Given the description of an element on the screen output the (x, y) to click on. 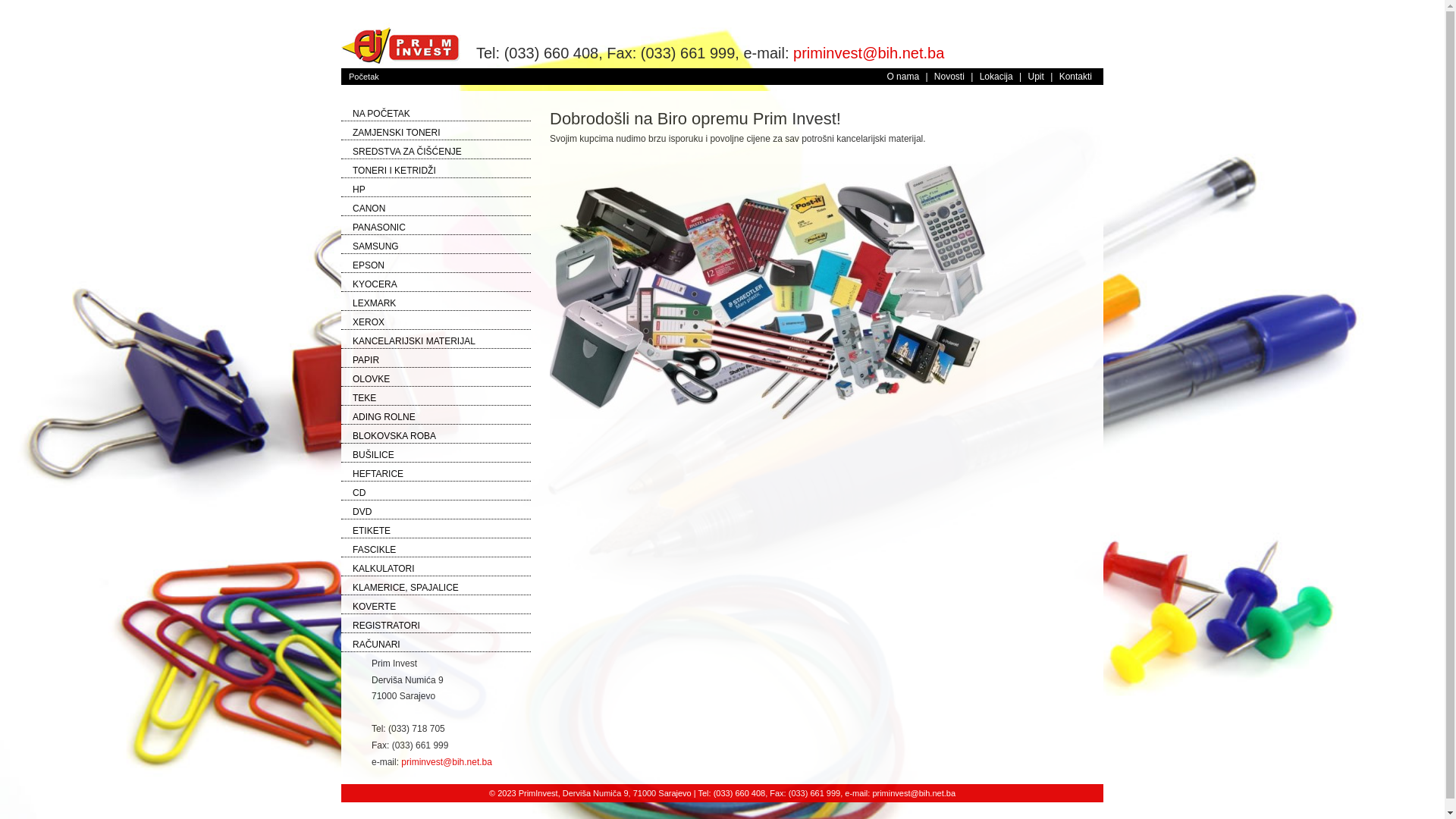
CD Element type: text (358, 492)
REGISTRATORI Element type: text (386, 625)
KOVERTE Element type: text (373, 606)
PrimInvest Element type: hover (401, 45)
BLOKOVSKA ROBA Element type: text (394, 435)
DVD Element type: text (361, 511)
O nama Element type: text (902, 76)
KANCELARIJSKI MATERIJAL Element type: text (413, 340)
ETIKETE Element type: text (371, 530)
PANASONIC Element type: text (378, 227)
LEXMARK Element type: text (373, 303)
KLAMERICE, SPAJALICE Element type: text (405, 587)
priminvest@bih.net.ba Element type: text (868, 52)
ADING ROLNE Element type: text (383, 416)
priminvest@bih.net.ba Element type: text (446, 761)
KALKULATORI Element type: text (383, 568)
TEKE Element type: text (364, 397)
Upit Element type: text (1035, 76)
KYOCERA Element type: text (374, 284)
FASCIKLE Element type: text (373, 549)
ZAMJENSKI TONERI Element type: text (396, 132)
HEFTARICE Element type: text (377, 473)
priminvest@bih.net.ba Element type: text (913, 792)
Kontakti Element type: text (1075, 76)
SAMSUNG Element type: text (375, 246)
XEROX Element type: text (368, 321)
EPSON Element type: text (368, 265)
HP Element type: text (358, 189)
Novosti Element type: text (949, 76)
OLOVKE Element type: text (370, 378)
PAPIR Element type: text (365, 359)
CANON Element type: text (368, 208)
Lokacija Element type: text (995, 76)
